Given the description of an element on the screen output the (x, y) to click on. 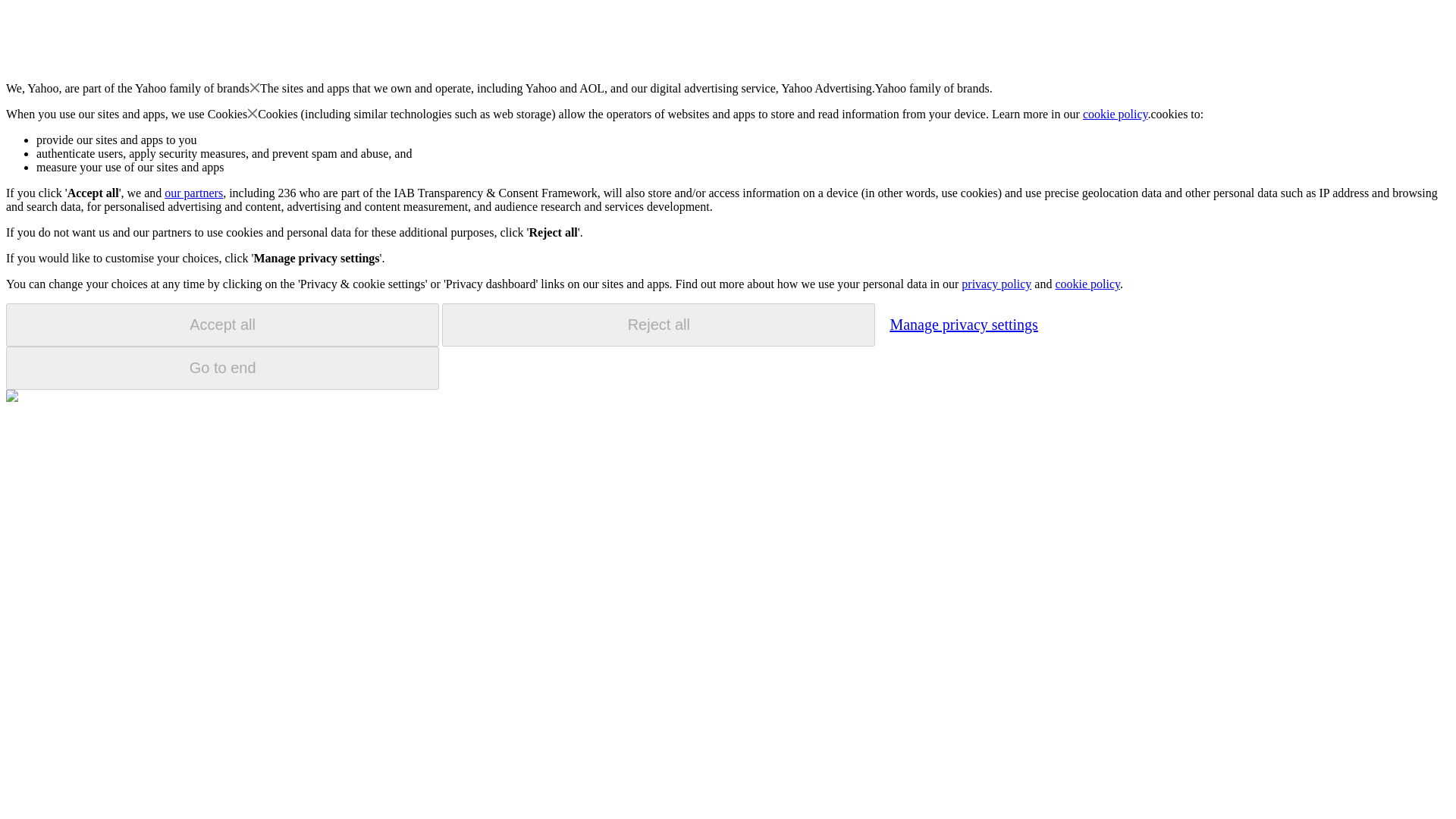
our partners (193, 192)
Go to end (222, 367)
Reject all (658, 324)
Manage privacy settings (963, 323)
privacy policy (995, 283)
cookie policy (1086, 283)
cookie policy (1115, 113)
Accept all (222, 324)
